Given the description of an element on the screen output the (x, y) to click on. 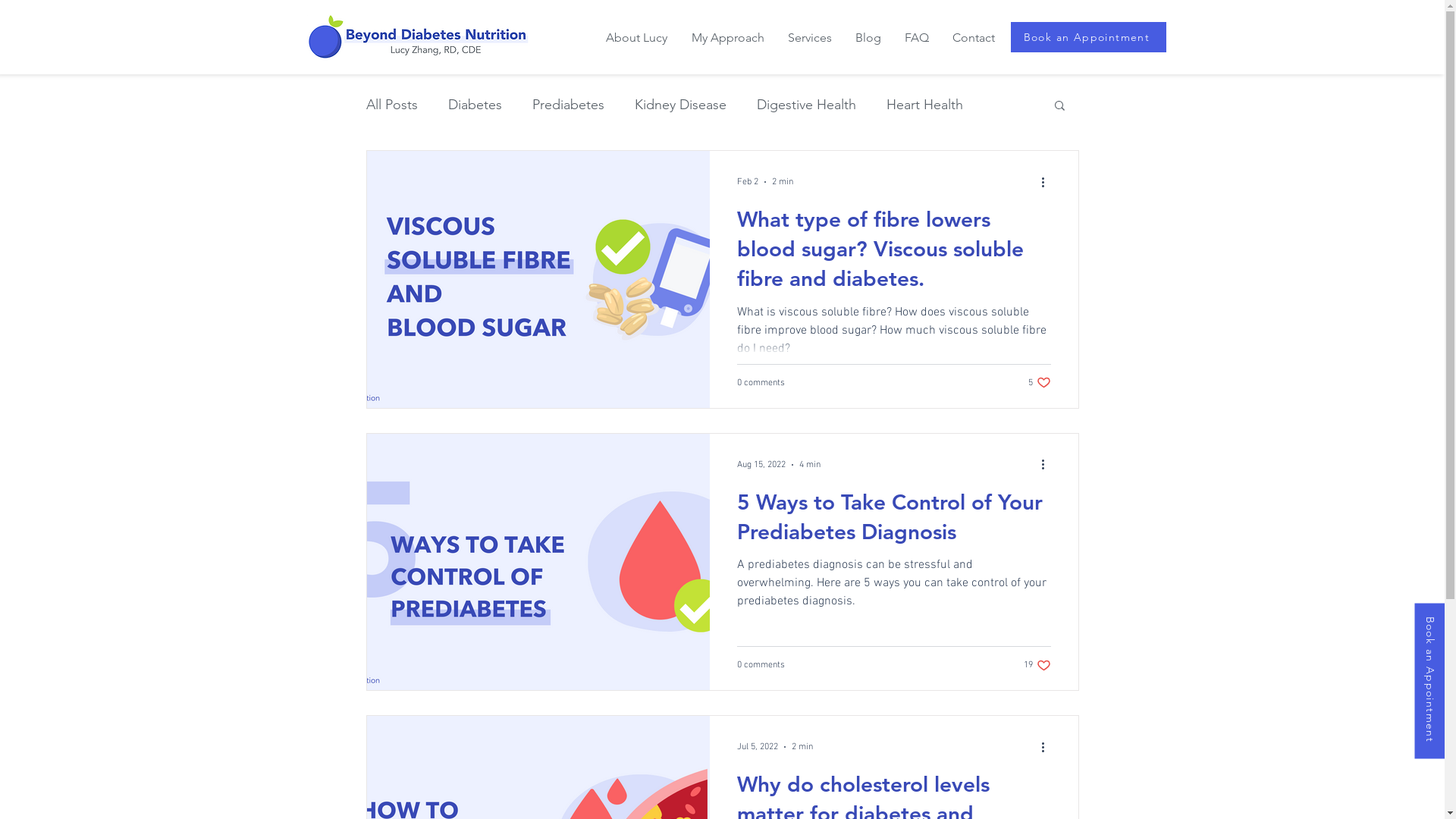
Digestive Health Element type: text (806, 104)
Book an Appointment Element type: text (1087, 36)
My Approach Element type: text (727, 37)
All Posts Element type: text (391, 104)
Heart Health Element type: text (923, 104)
Kidney Disease Element type: text (679, 104)
0 comments Element type: text (760, 382)
Diabetes Element type: text (474, 104)
Blog Element type: text (867, 37)
FAQ Element type: text (917, 37)
5 likes. Post not marked as liked
5 Element type: text (1039, 382)
About Lucy Element type: text (635, 37)
19 likes. Post not marked as liked
19 Element type: text (1037, 665)
0 comments Element type: text (760, 664)
Contact Element type: text (973, 37)
Services Element type: text (810, 37)
5 Ways to Take Control of Your Prediabetes Diagnosis Element type: text (894, 520)
Prediabetes Element type: text (568, 104)
